Given the description of an element on the screen output the (x, y) to click on. 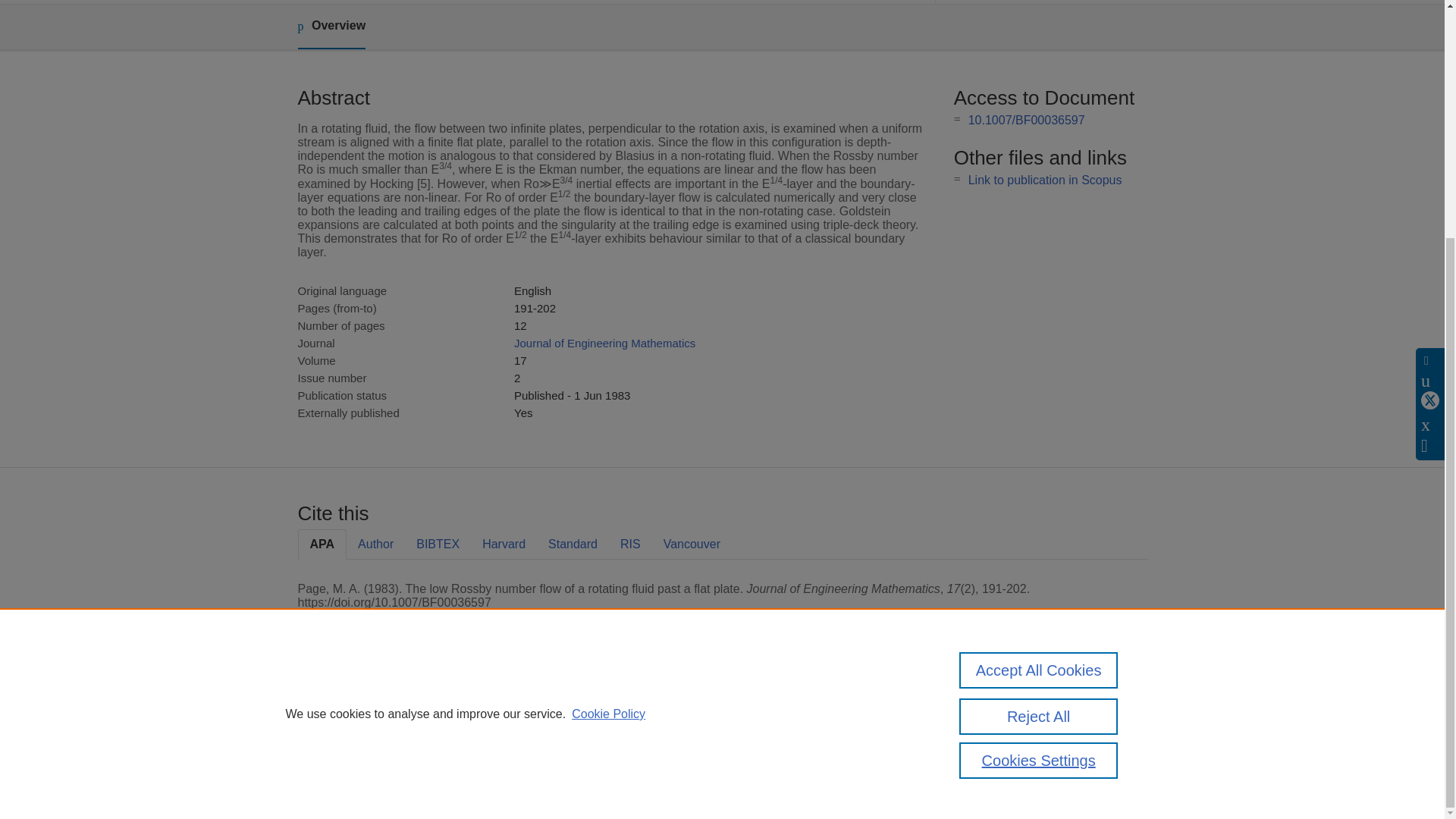
About web accessibility (1008, 740)
Overview (331, 26)
Contact us (1123, 713)
Journal of Engineering Mathematics (604, 342)
Scopus (394, 708)
Cookies Settings (1038, 434)
Elsevier B.V. (506, 728)
Monash University data protection policy (1009, 713)
Link to publication in Scopus (1045, 179)
use of cookies (796, 760)
